Given the description of an element on the screen output the (x, y) to click on. 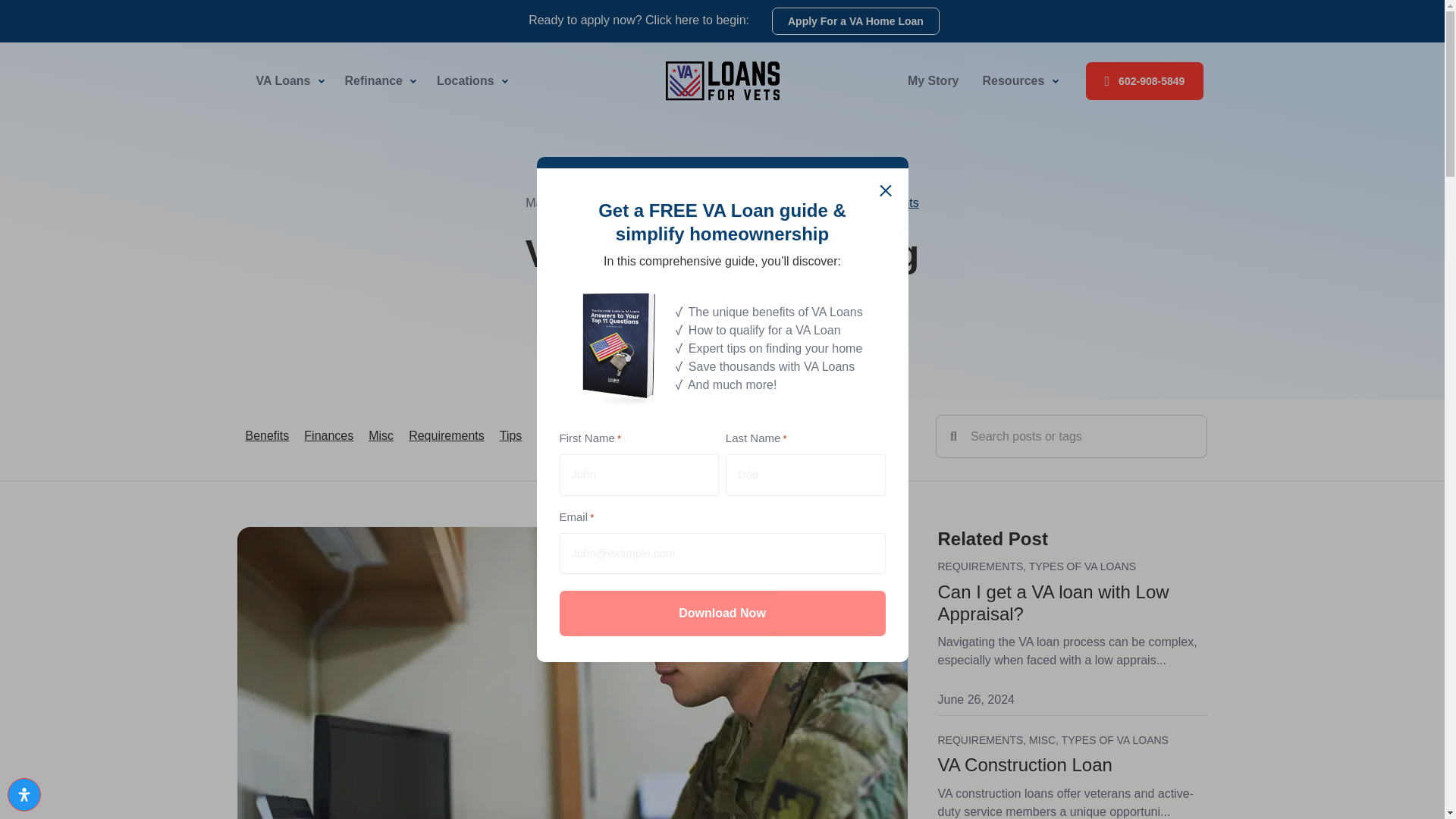
Search (1081, 436)
va loan underwriting (571, 748)
Locations (470, 80)
Apply For a VA Home Loan (855, 21)
Logo Vector (721, 80)
Download Now (722, 613)
My Story (933, 80)
602-908-5849 (1145, 80)
Resources (1019, 80)
VA Loans (287, 80)
Refinance (379, 80)
